Given the description of an element on the screen output the (x, y) to click on. 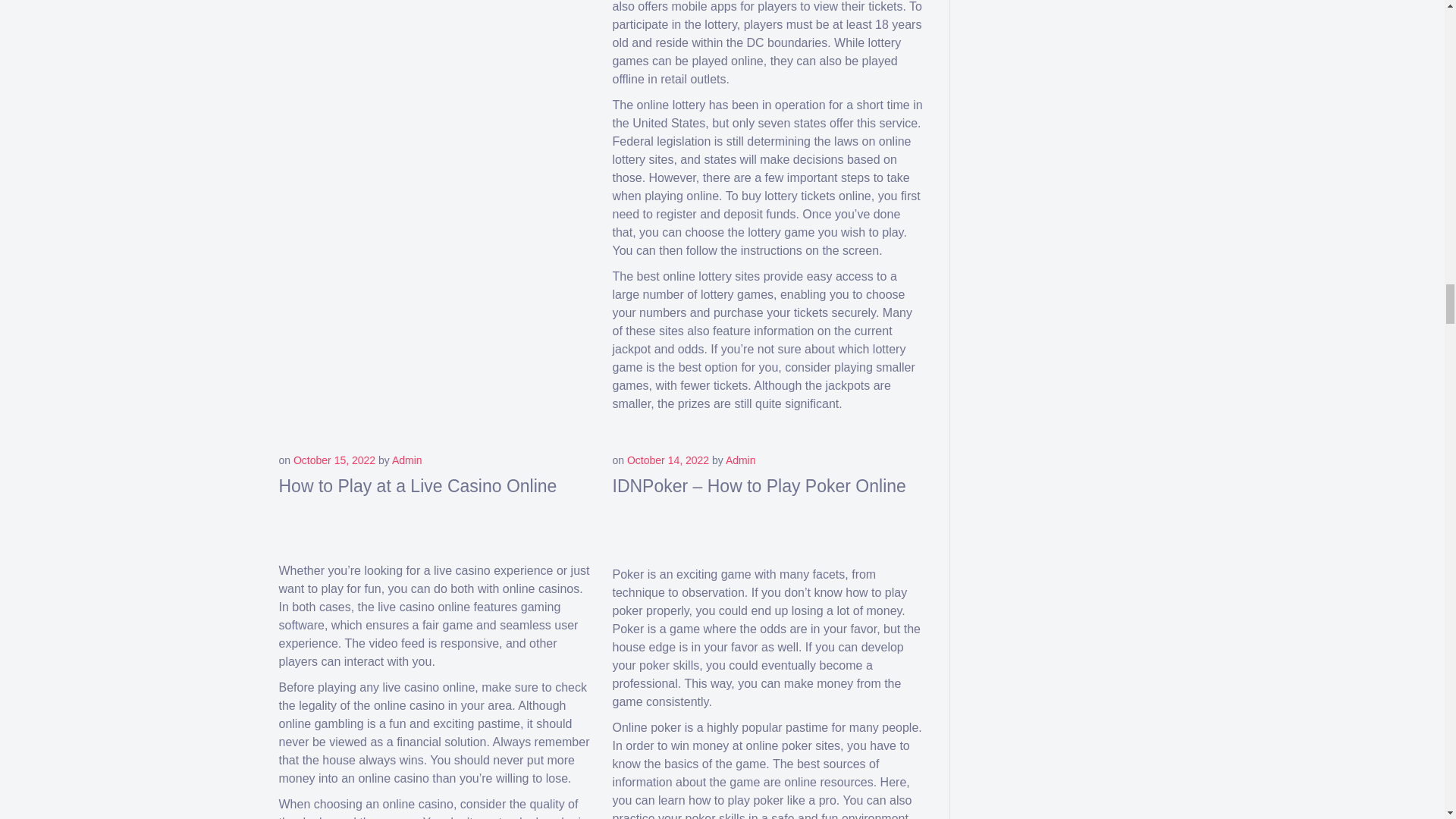
Admin (406, 460)
October 14, 2022 (668, 460)
Admin (740, 460)
October 15, 2022 (334, 460)
How to Play at a Live Casino Online (418, 485)
